Given the description of an element on the screen output the (x, y) to click on. 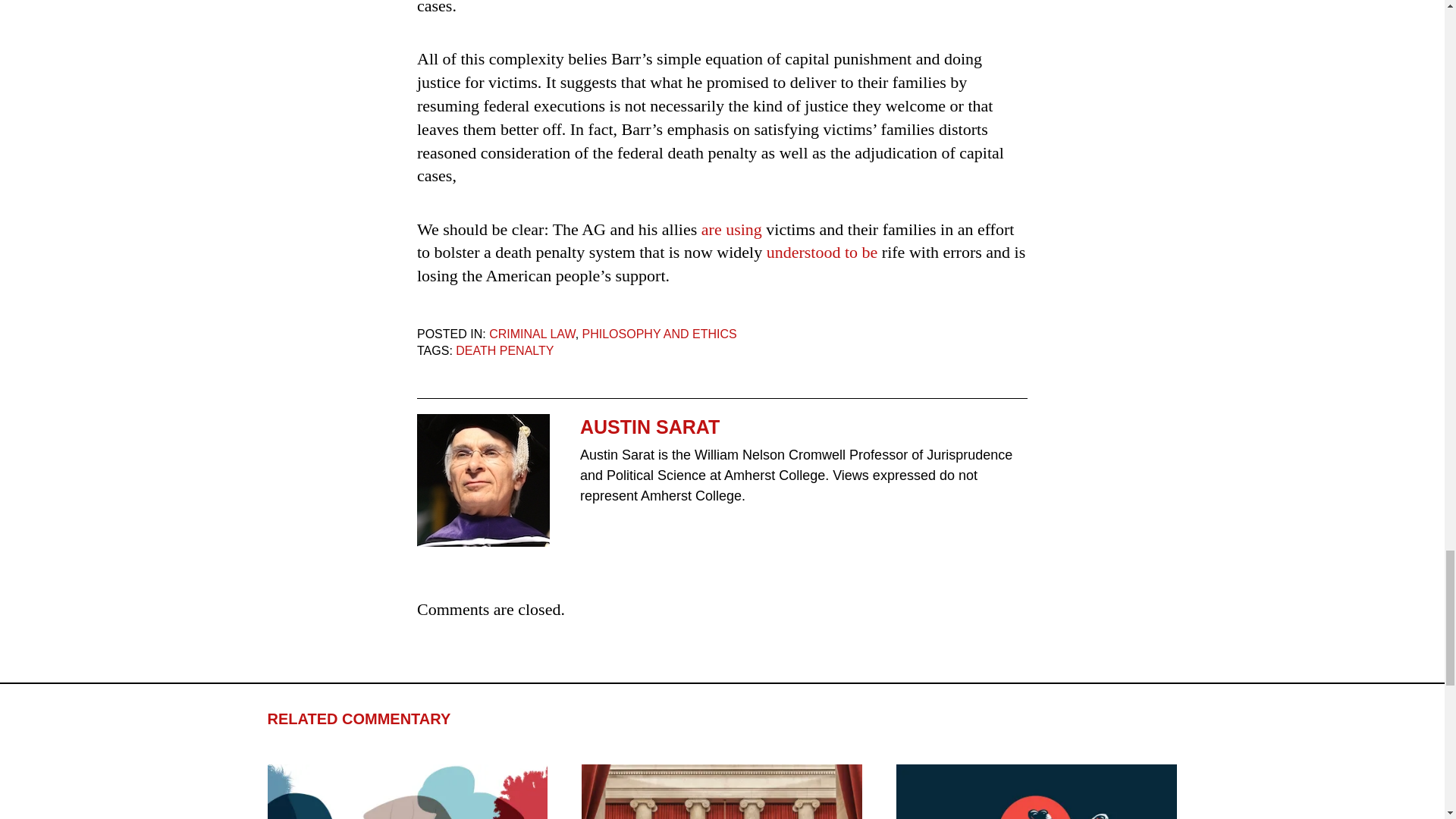
CRIMINAL LAW (532, 333)
understood to be (822, 251)
View all posts in Philosophy and Ethics (659, 333)
are using (731, 229)
View all posts in Criminal Law (532, 333)
Austin Sarat (483, 480)
View all posts in Death Penalty (504, 350)
